Given the description of an element on the screen output the (x, y) to click on. 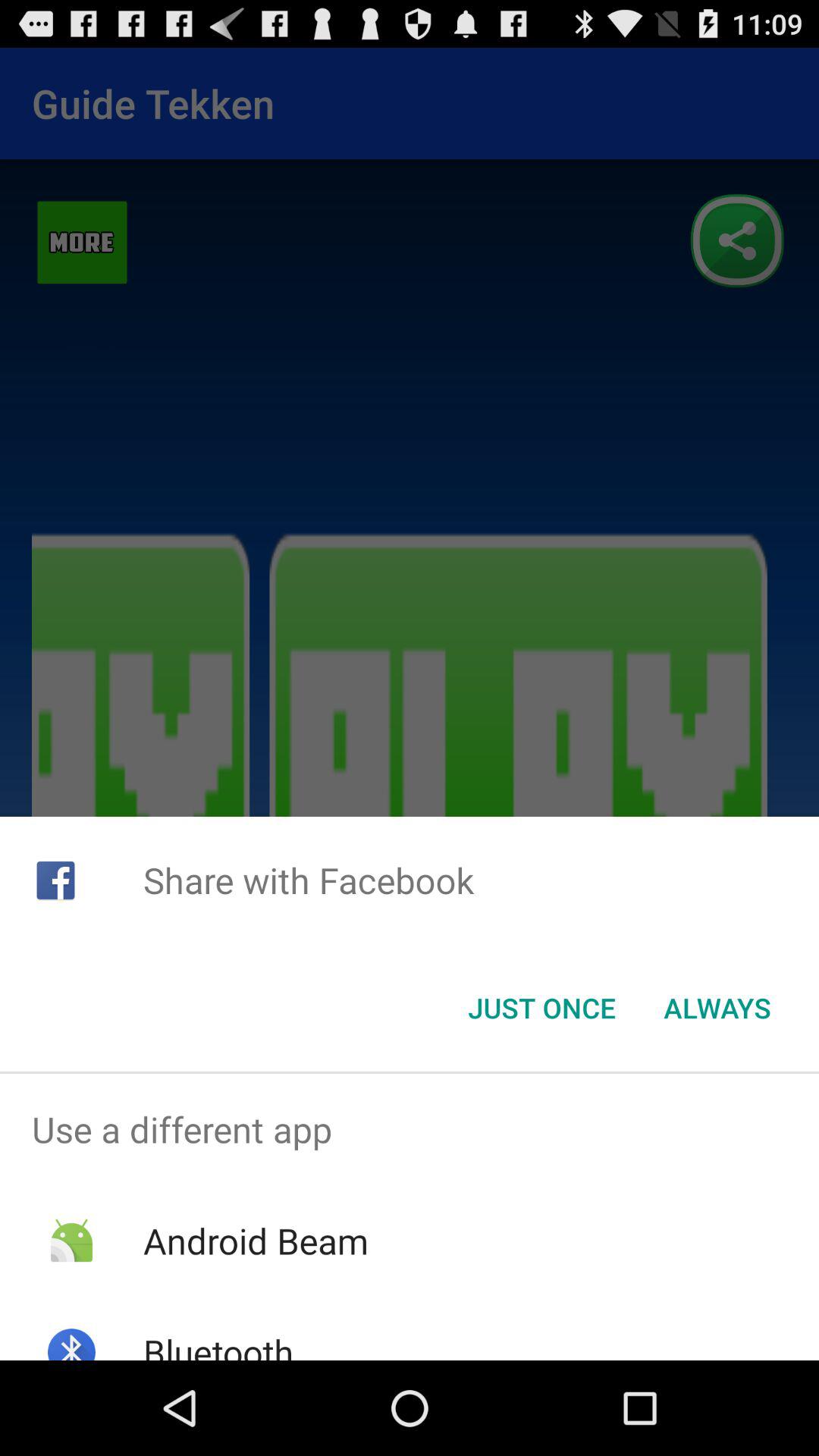
turn off android beam icon (255, 1240)
